Given the description of an element on the screen output the (x, y) to click on. 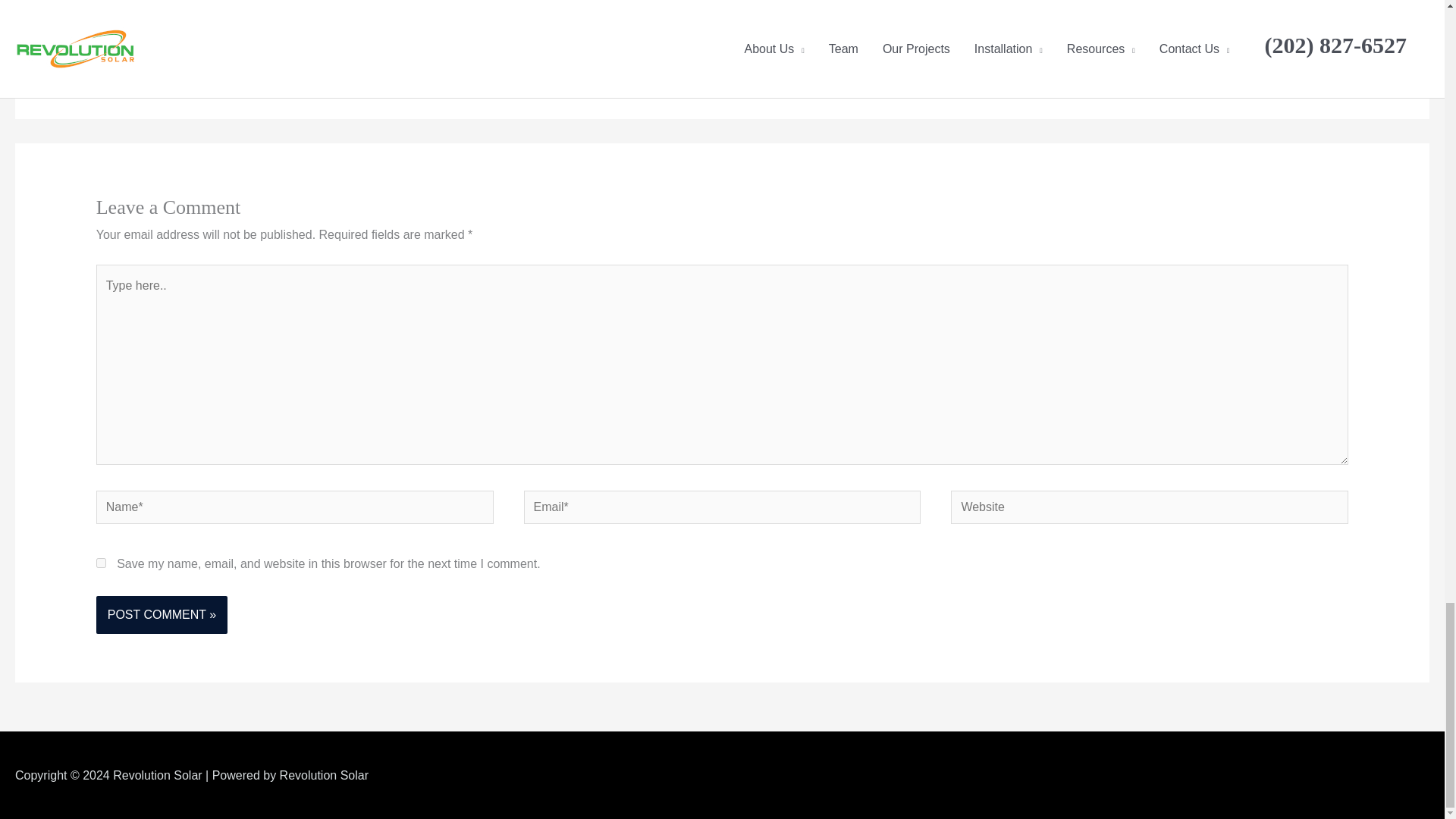
Reply (1332, 46)
yes (101, 562)
